Given the description of an element on the screen output the (x, y) to click on. 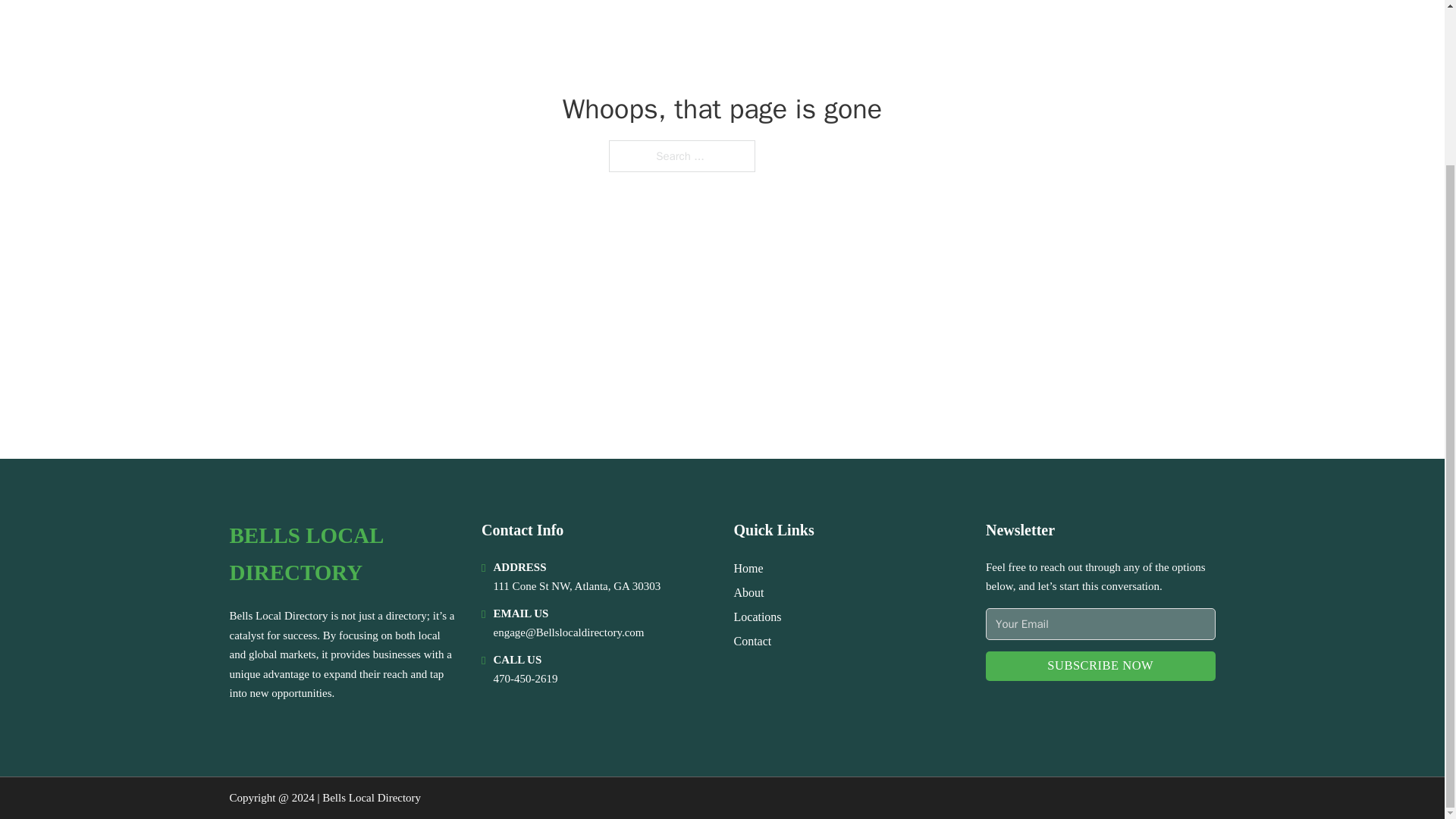
Home (747, 567)
470-450-2619 (525, 678)
BELLS LOCAL DIRECTORY (343, 554)
About (748, 592)
SUBSCRIBE NOW (1100, 665)
Contact (752, 640)
Locations (757, 616)
